Given the description of an element on the screen output the (x, y) to click on. 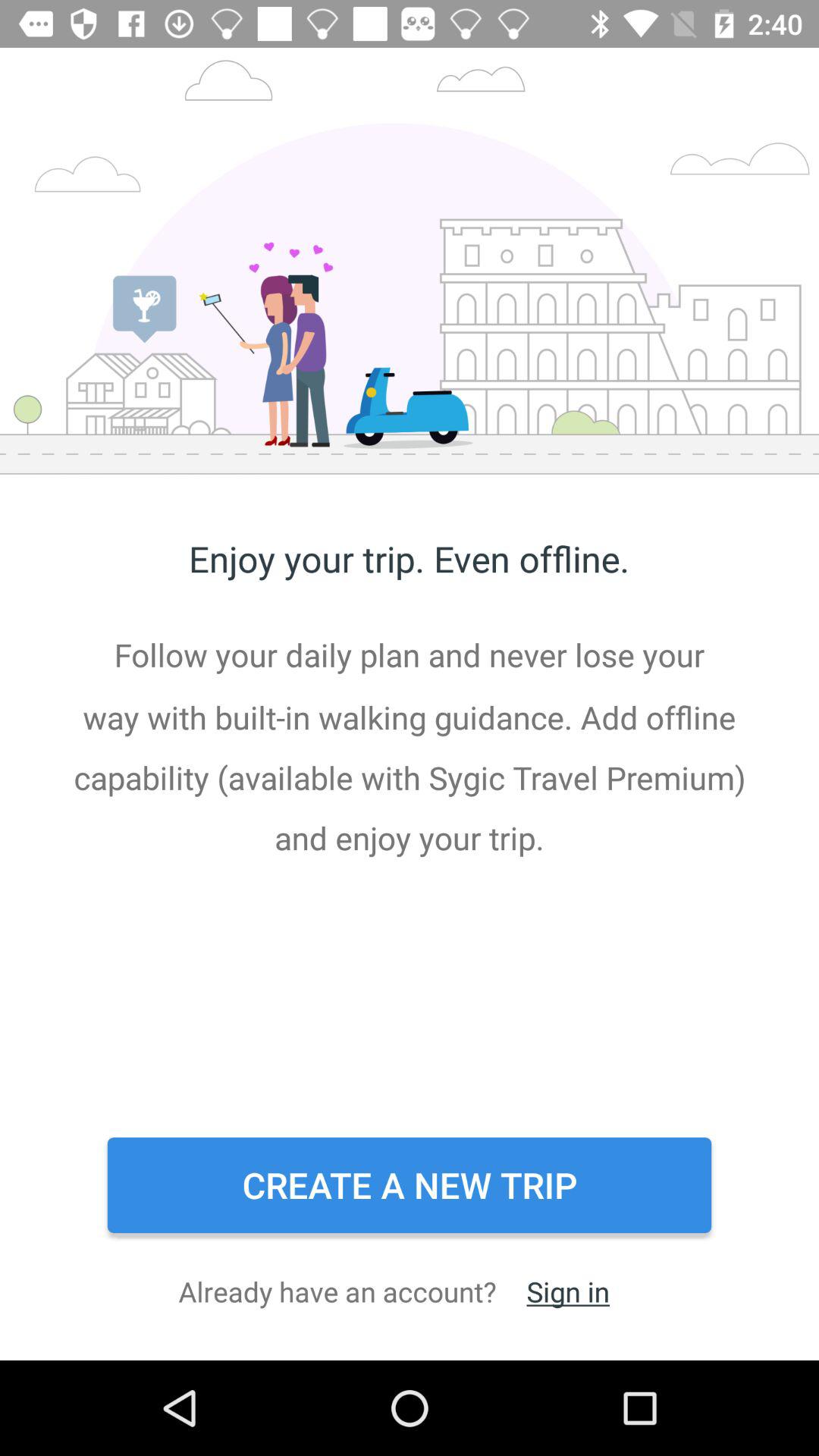
click the icon to the right of the already have an item (567, 1291)
